Given the description of an element on the screen output the (x, y) to click on. 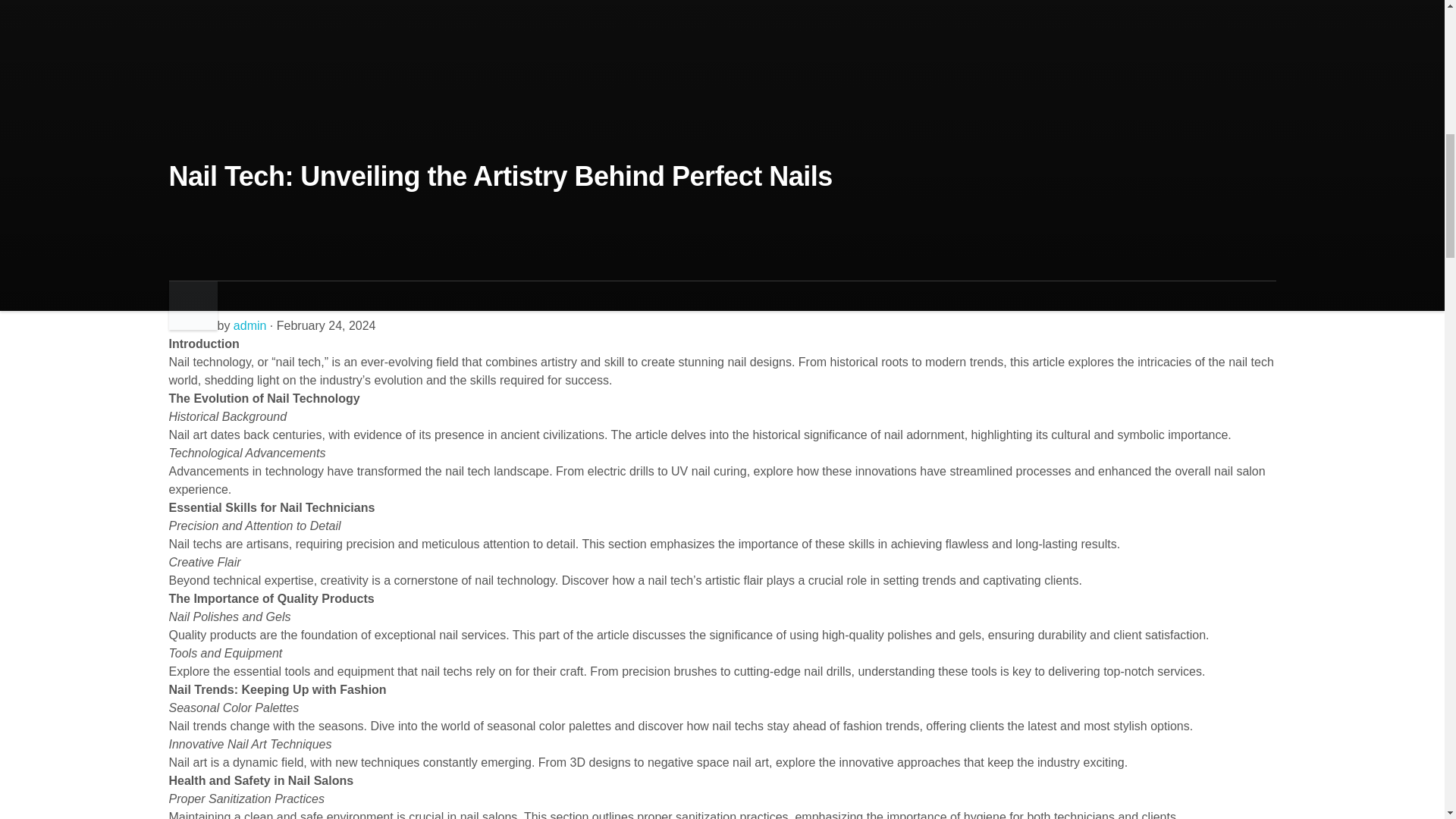
admin (249, 325)
Posts by admin (249, 325)
